Given the description of an element on the screen output the (x, y) to click on. 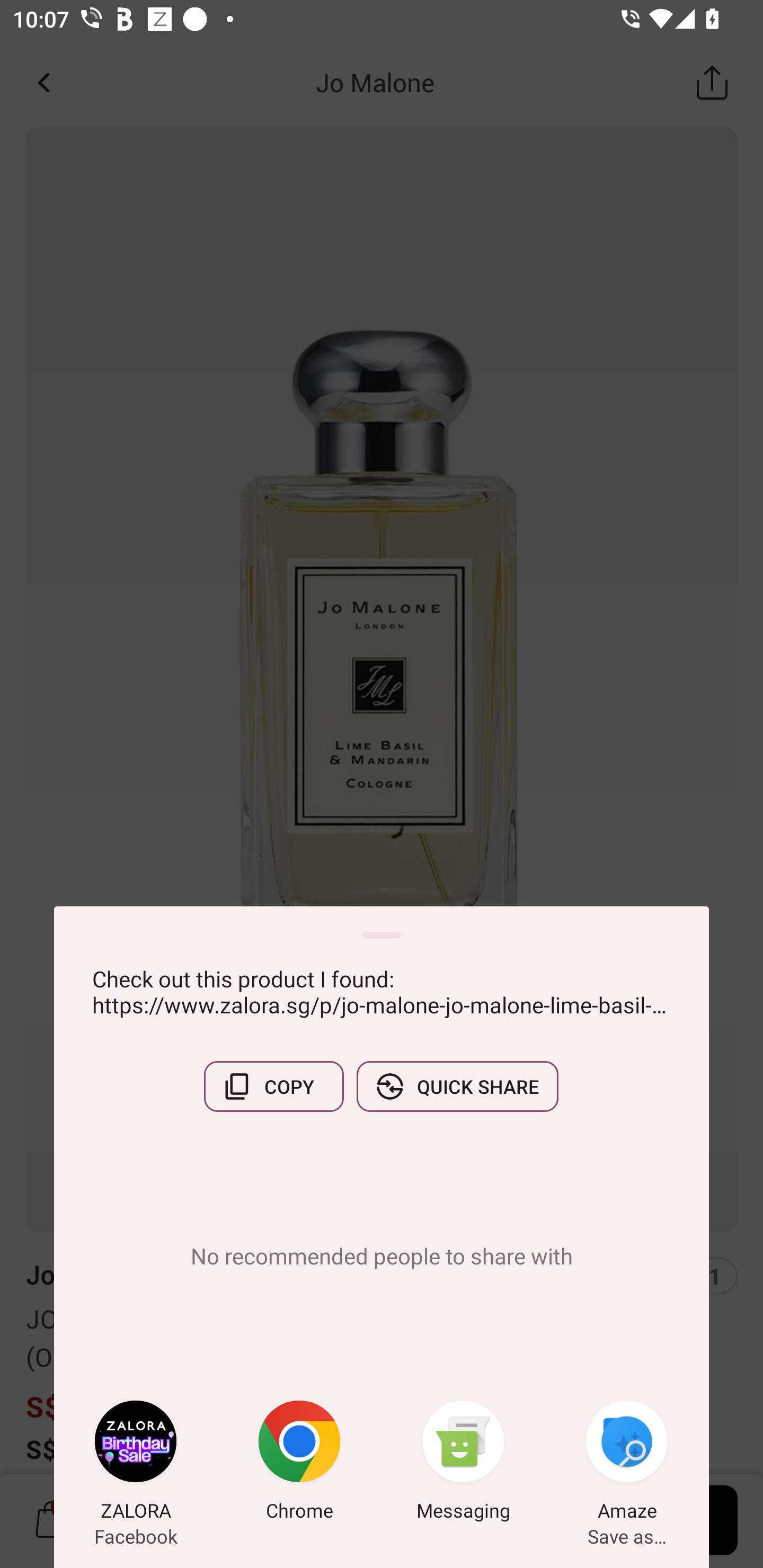
COPY (273, 1086)
QUICK SHARE (457, 1086)
ZALORA Facebook (135, 1463)
Chrome (299, 1463)
Messaging (463, 1463)
Amaze Save as… (626, 1463)
